Given the description of an element on the screen output the (x, y) to click on. 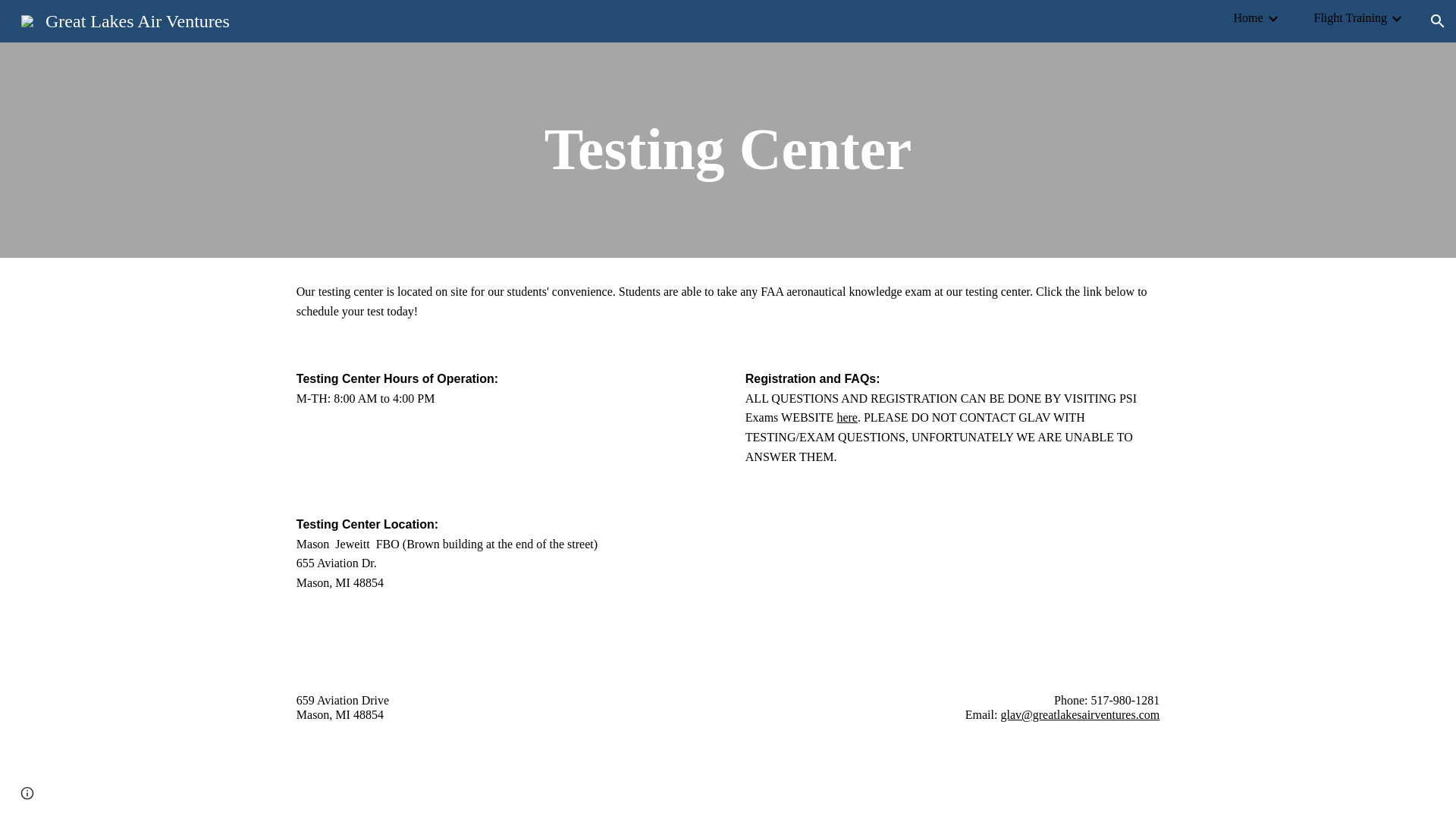
Flight Training (1350, 17)
Great Lakes Air Ventures (124, 19)
Home (1247, 17)
here (846, 417)
